Given the description of an element on the screen output the (x, y) to click on. 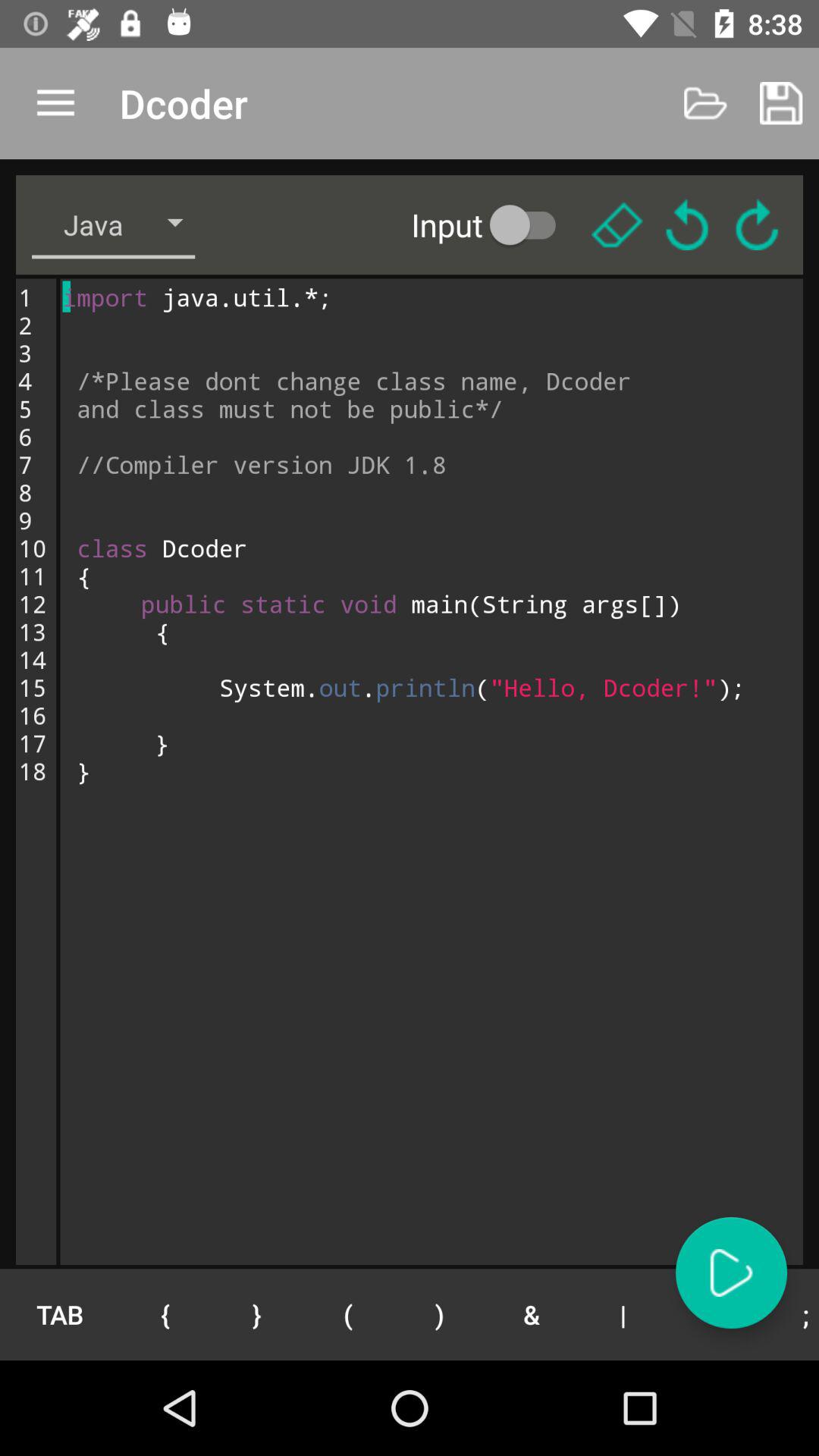
the button is used to settings option (616, 224)
